Given the description of an element on the screen output the (x, y) to click on. 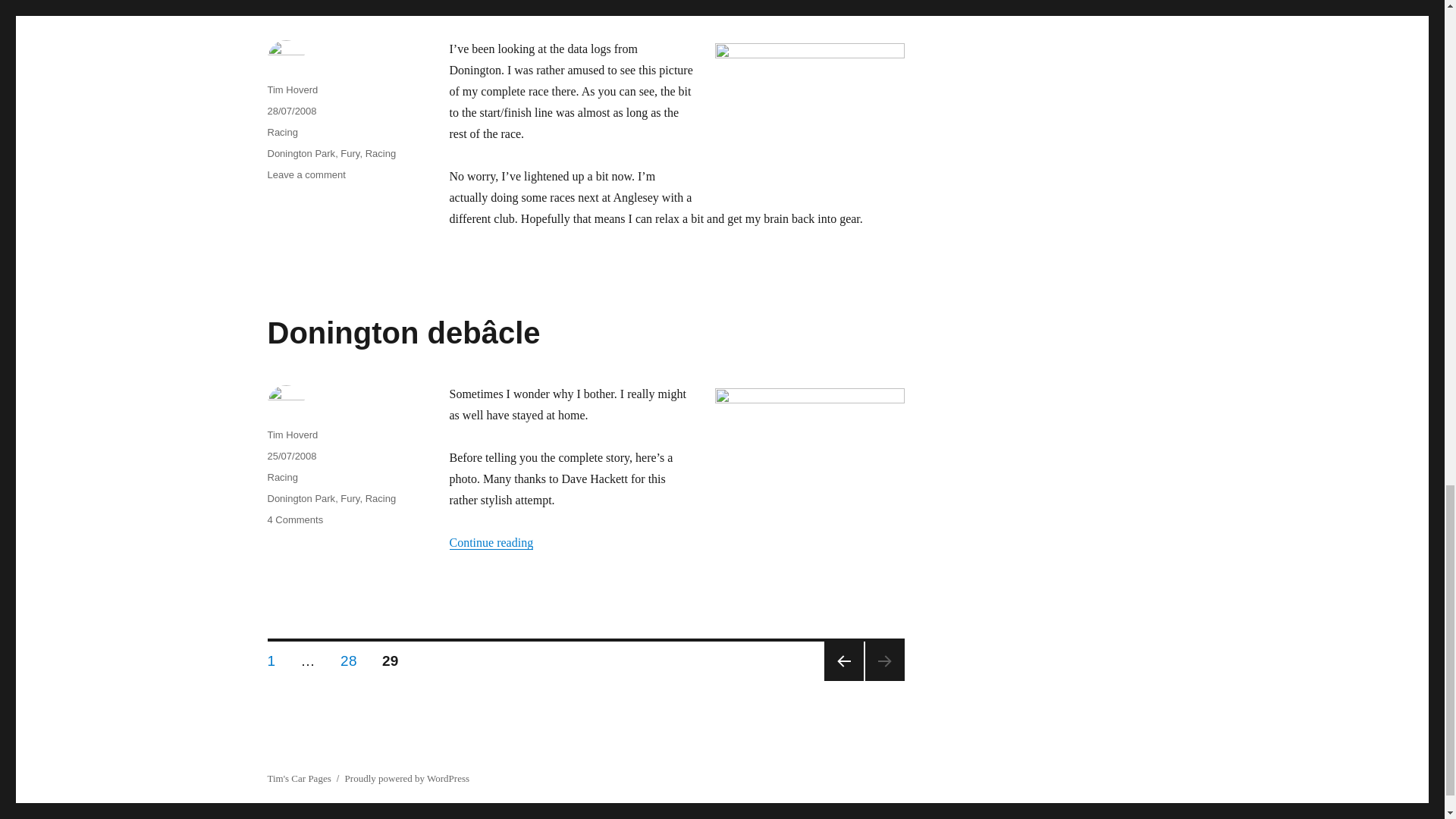
Tim Hoverd (291, 89)
Tim Hoverd (291, 434)
Racing (305, 174)
Racing (281, 132)
Donington Park (380, 153)
Fury (300, 153)
A short race (349, 153)
